Given the description of an element on the screen output the (x, y) to click on. 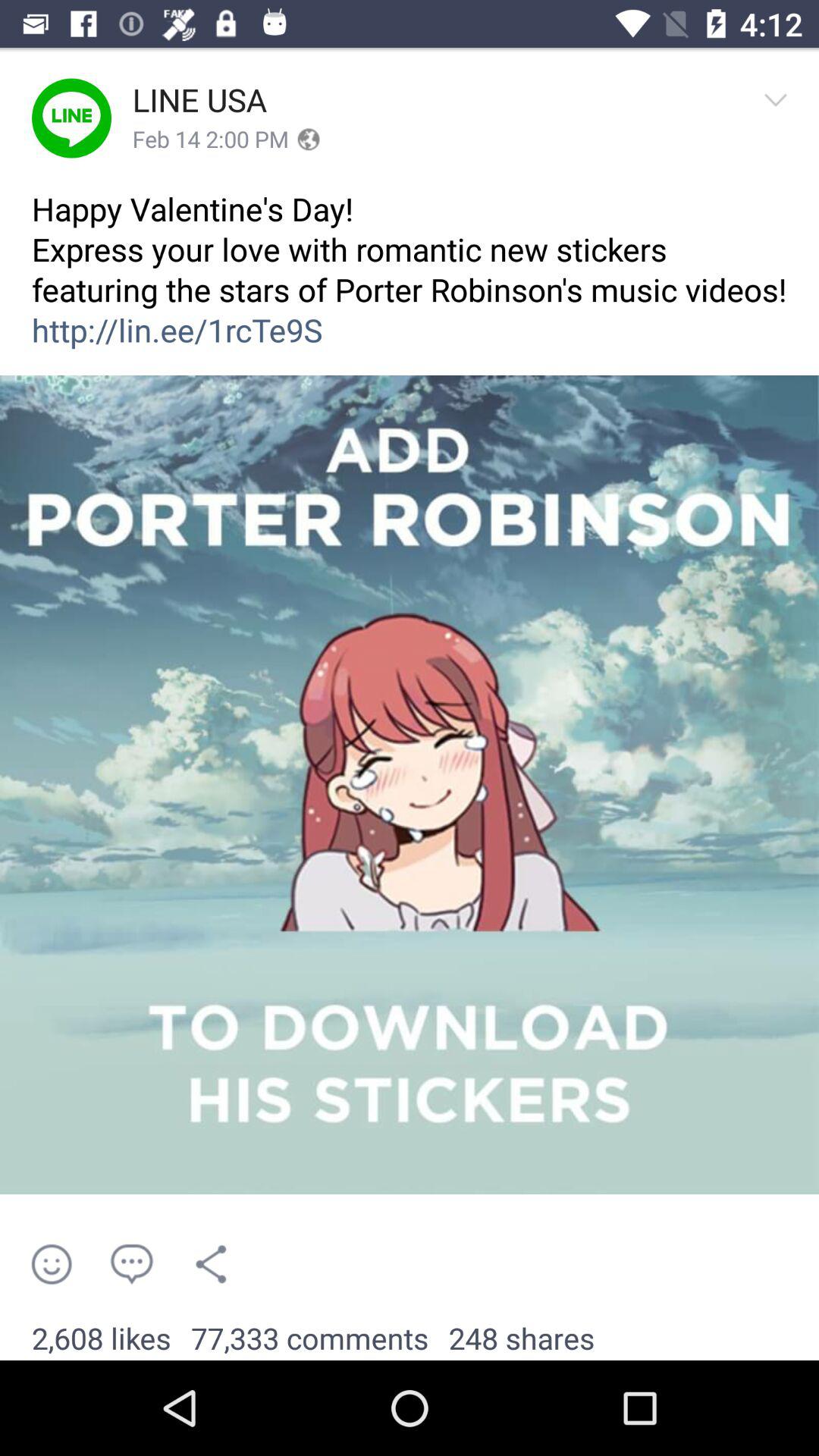
swipe until the 77,333 comments app (309, 1339)
